Given the description of an element on the screen output the (x, y) to click on. 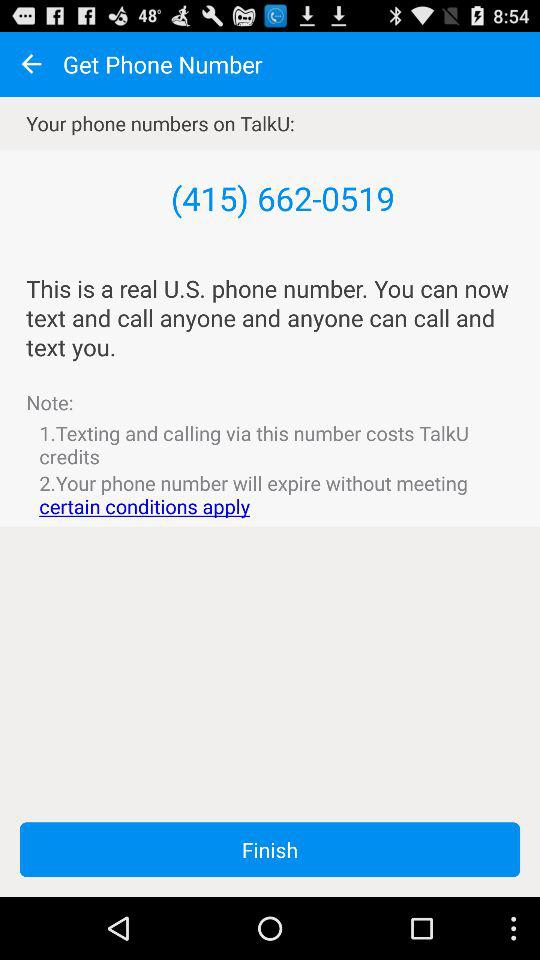
tap finish item (269, 849)
